Given the description of an element on the screen output the (x, y) to click on. 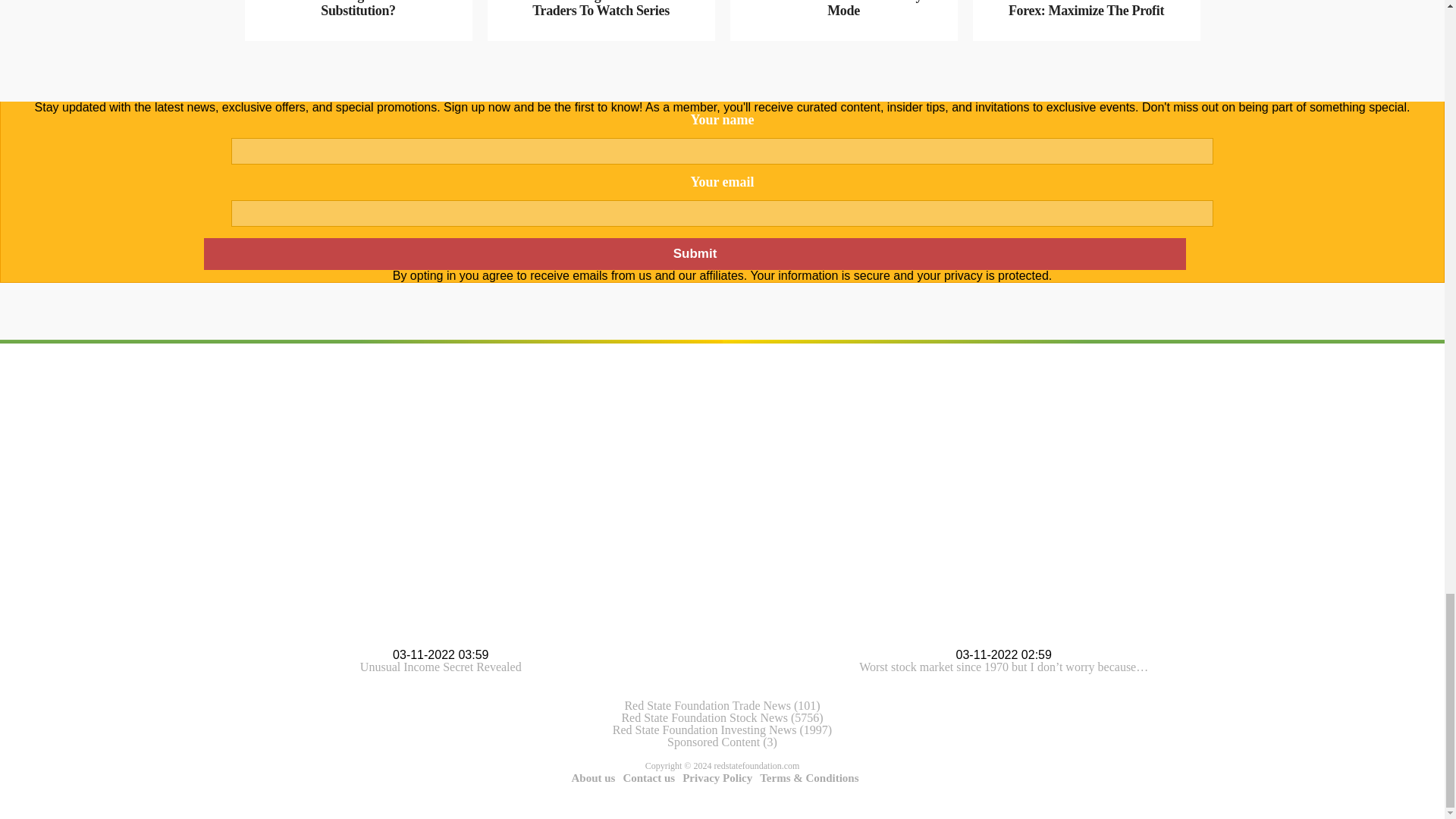
Submit (694, 254)
